Given the description of an element on the screen output the (x, y) to click on. 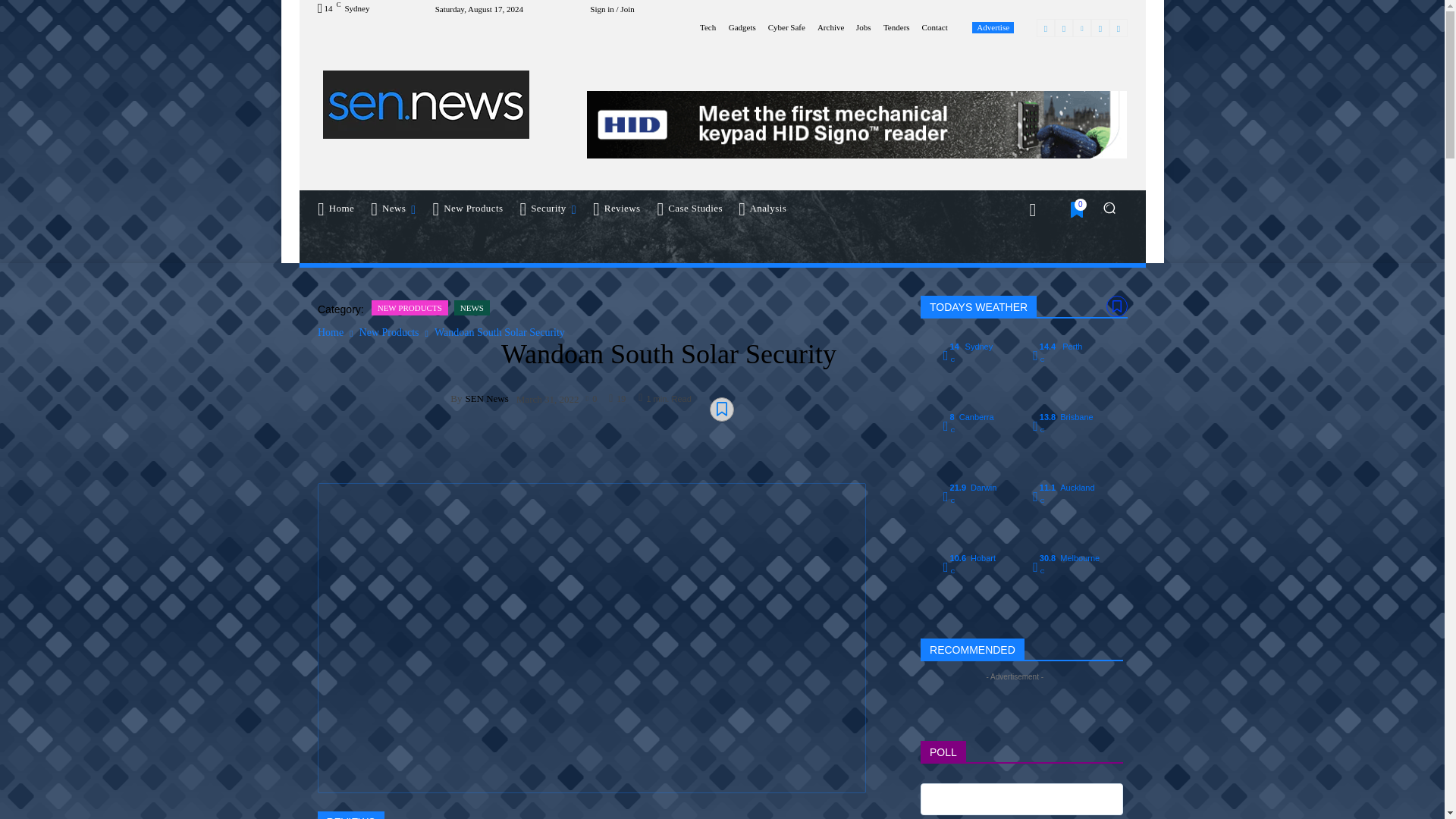
News (393, 208)
Instagram (1062, 27)
Contact (934, 27)
Gadgets (742, 27)
Archive (830, 27)
Cyber Safe (786, 27)
Tech (708, 27)
Tenders (896, 27)
Home (335, 208)
Advertise (992, 27)
